Given the description of an element on the screen output the (x, y) to click on. 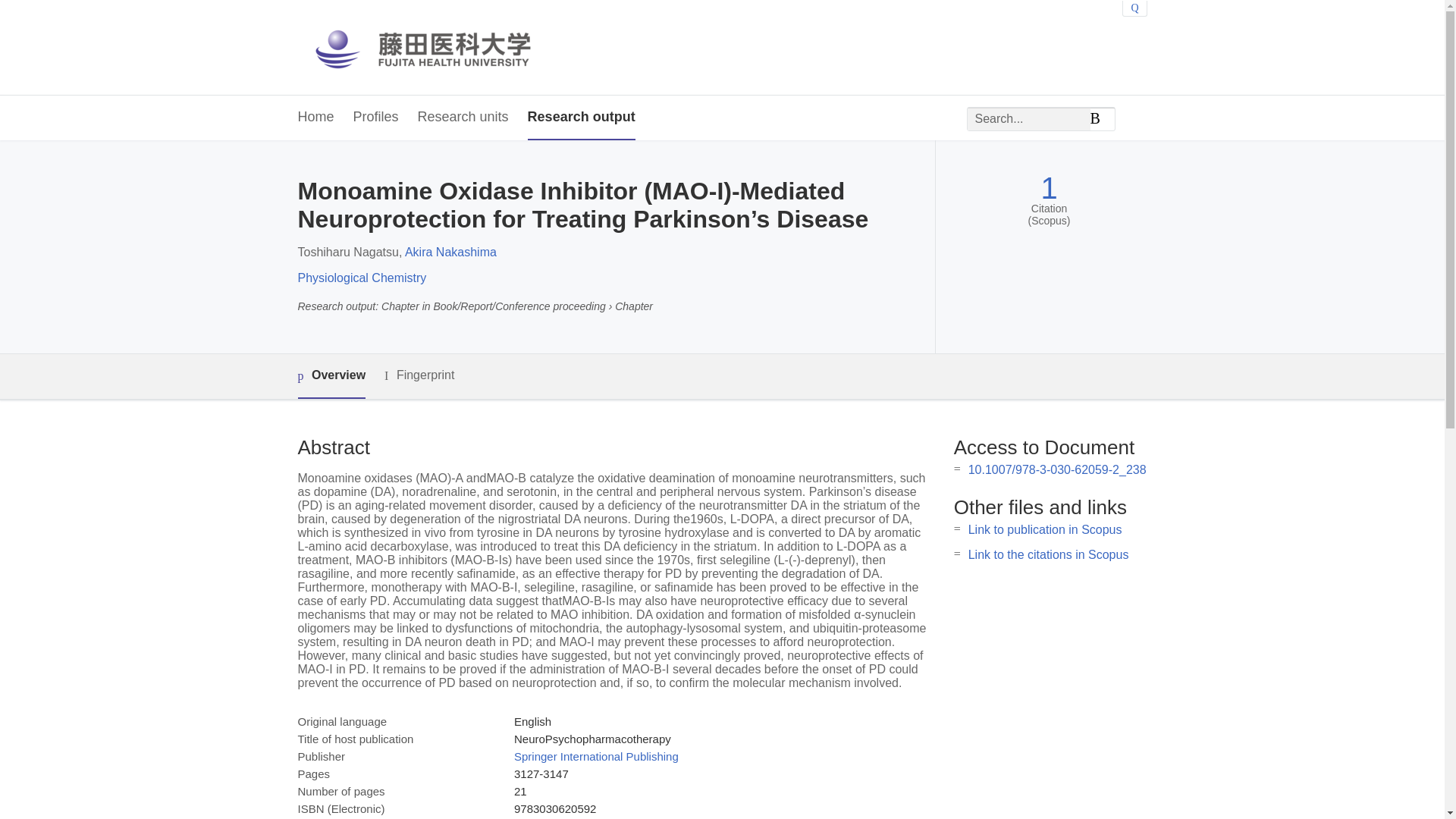
Link to publication in Scopus (1045, 529)
Research units (462, 117)
Physiological Chemistry (361, 277)
Fujita Health University Home (437, 47)
Link to the citations in Scopus (1048, 554)
Akira Nakashima (450, 251)
Research output (580, 117)
Fingerprint (419, 375)
Overview (331, 375)
Springer International Publishing (595, 756)
Profiles (375, 117)
